Given the description of an element on the screen output the (x, y) to click on. 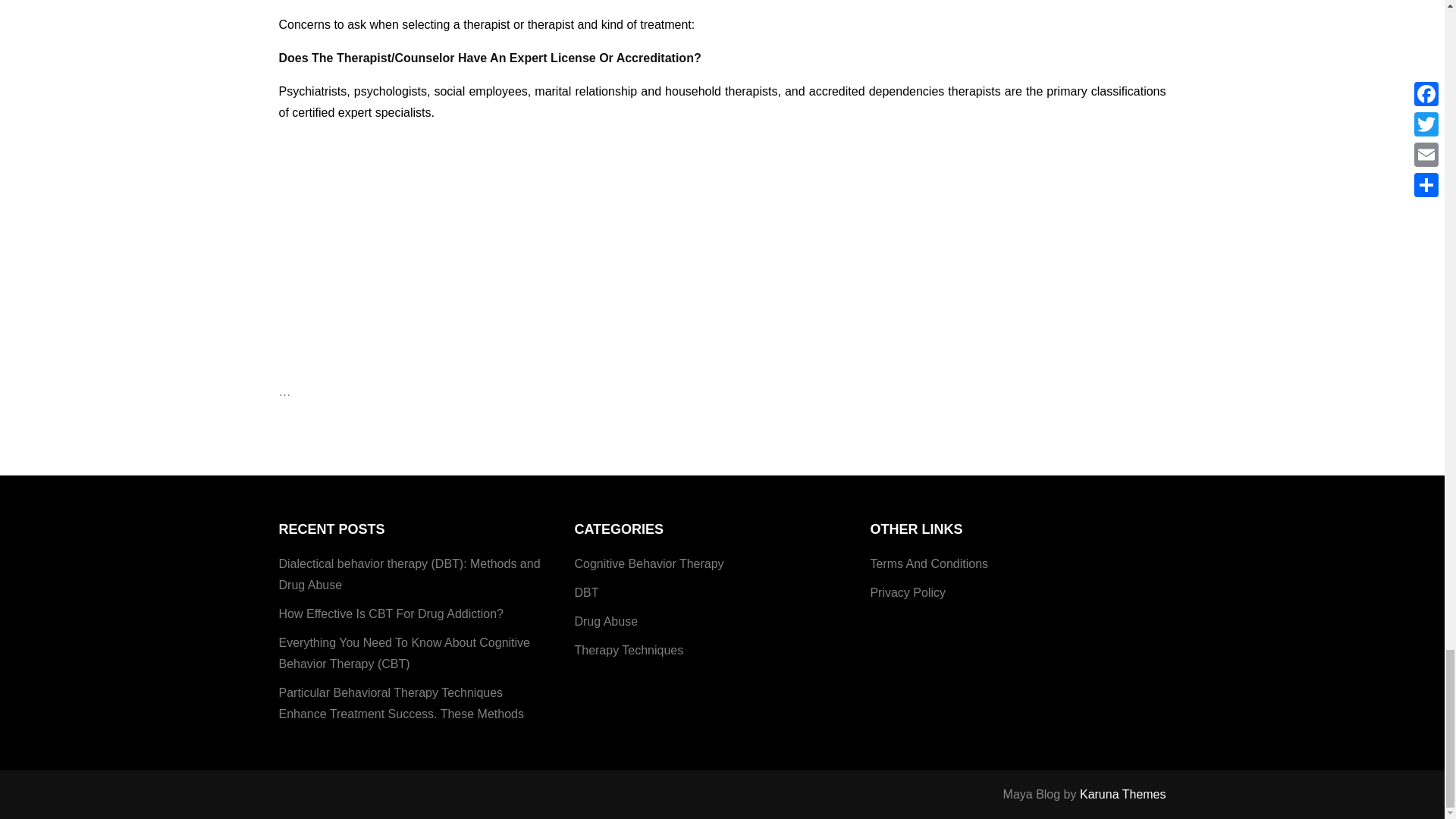
Therapy Techniques (627, 649)
DBT (585, 592)
Drug Abuse (605, 621)
Terms And Conditions (928, 563)
Cognitive Behavior Therapy (648, 563)
How Effective Is CBT For Drug Addiction? (391, 613)
